Given the description of an element on the screen output the (x, y) to click on. 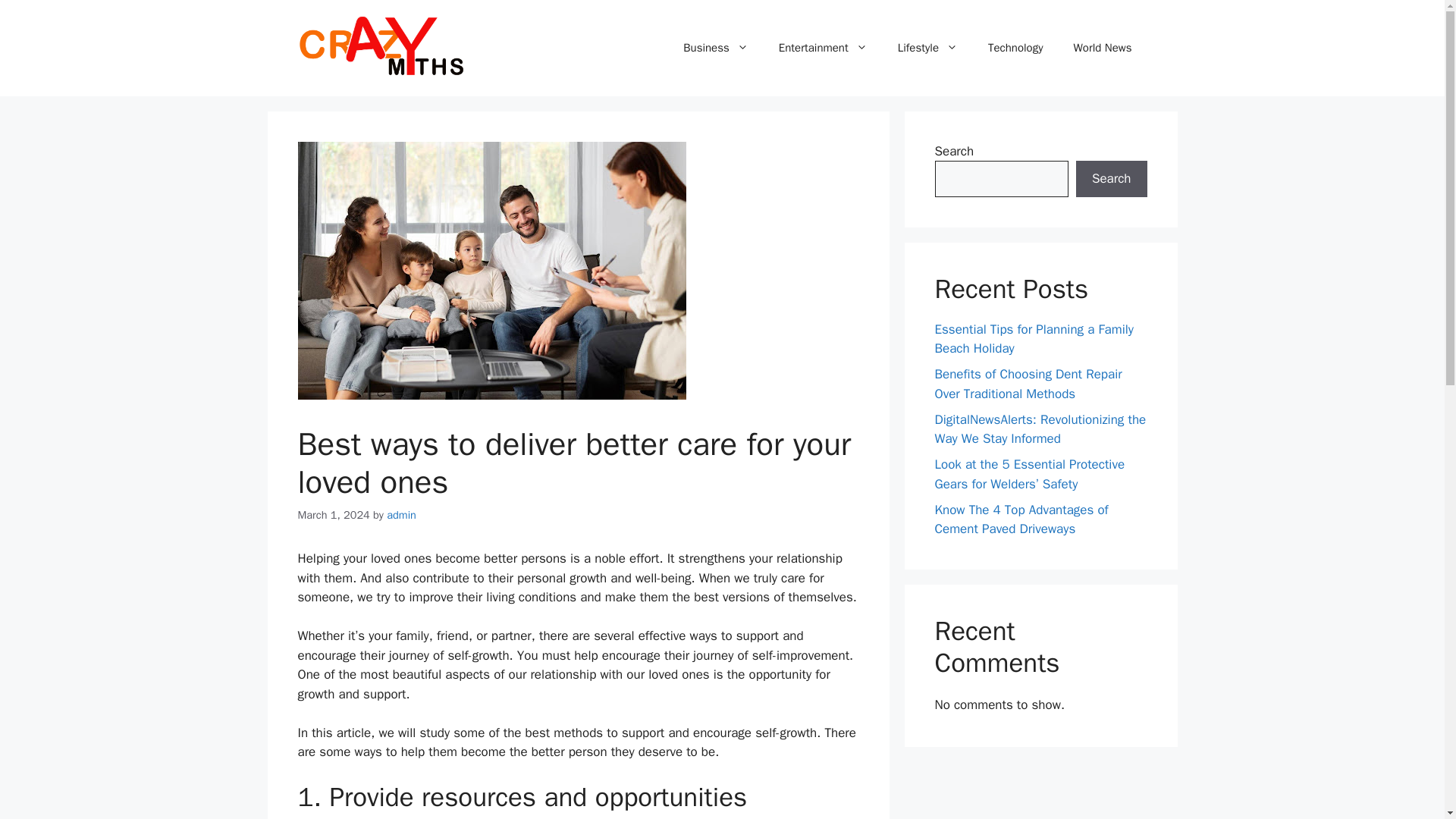
Benefits of Choosing Dent Repair Over Traditional Methods (1027, 384)
View all posts by admin (401, 514)
Business (715, 47)
Know The 4 Top Advantages of Cement Paved Driveways (1021, 519)
Essential Tips for Planning a Family Beach Holiday (1033, 339)
Lifestyle (927, 47)
Search (1111, 178)
DigitalNewsAlerts: Revolutionizing the Way We Stay Informed (1039, 428)
admin (401, 514)
Entertainment (822, 47)
World News (1102, 47)
Technology (1015, 47)
